Given the description of an element on the screen output the (x, y) to click on. 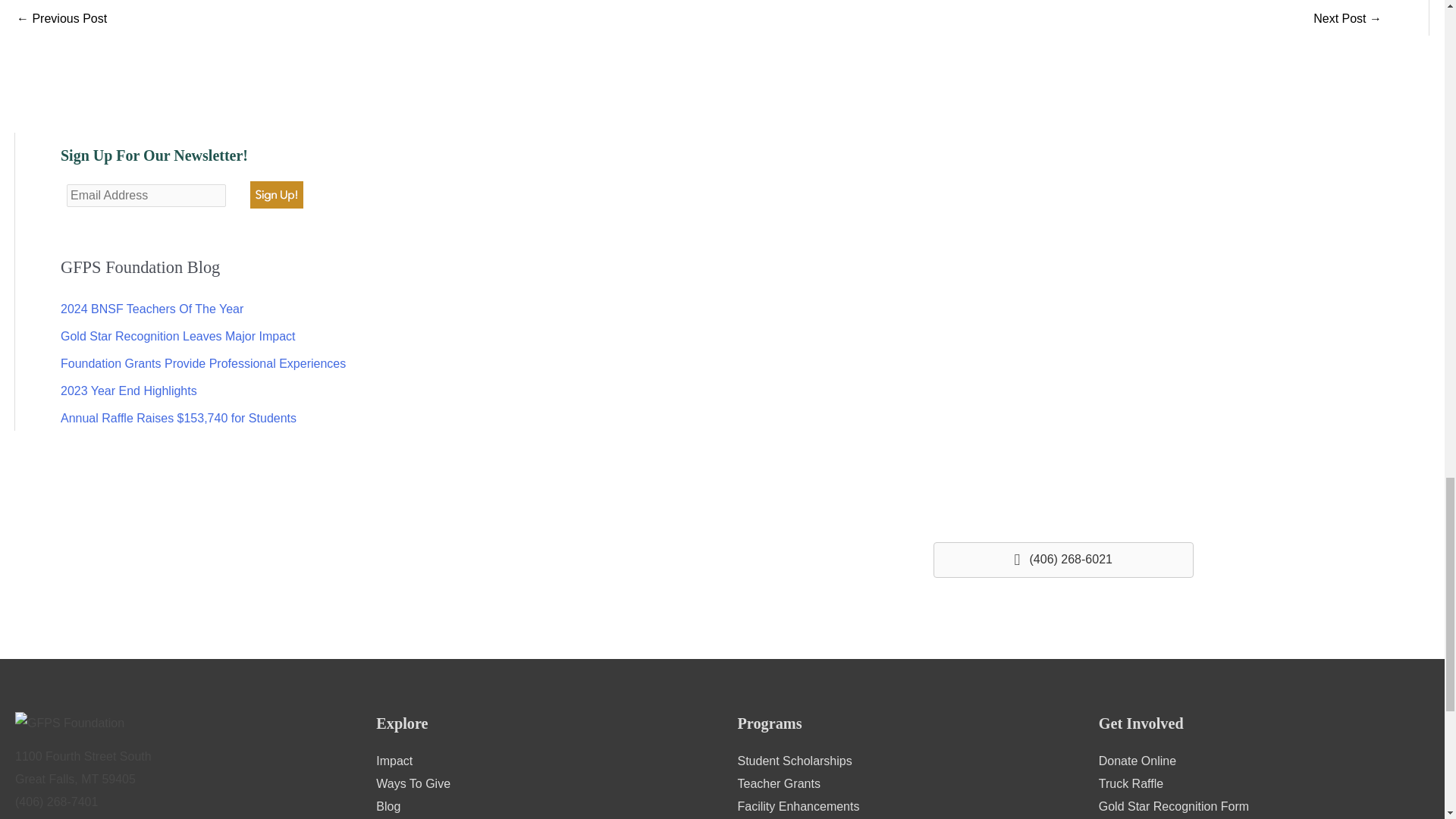
Real-World Forensic Science at CMR High (61, 19)
Impact (393, 760)
GFPS Foundation Blog (387, 806)
GFPS Grants (777, 783)
Ways To Give (412, 783)
Scholarships (793, 760)
Robotics Program Becomes a Reality (1347, 19)
